Given the description of an element on the screen output the (x, y) to click on. 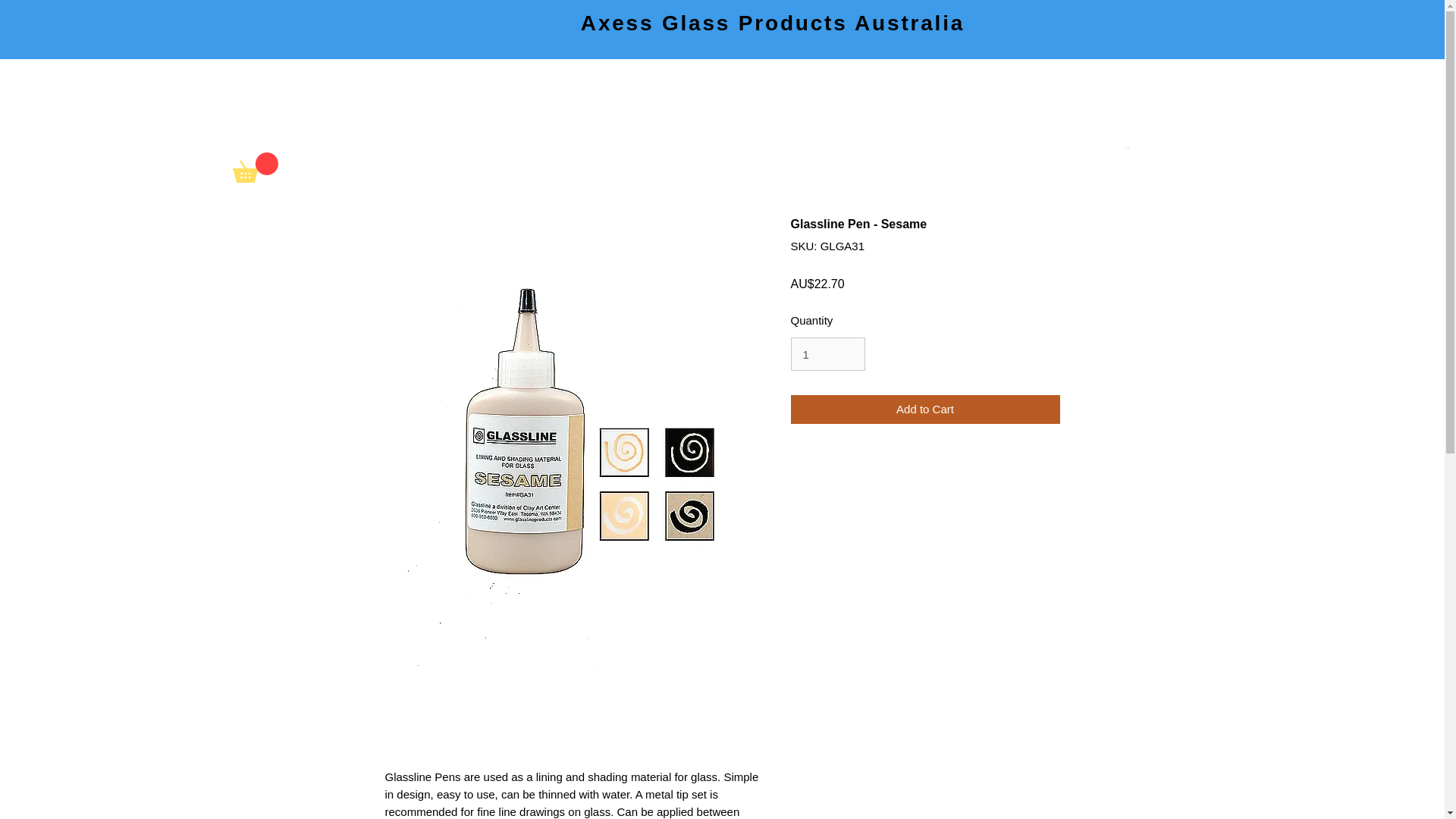
Add to Cart (924, 409)
Axess Glass Products Australia (771, 23)
1 (827, 354)
